Given the description of an element on the screen output the (x, y) to click on. 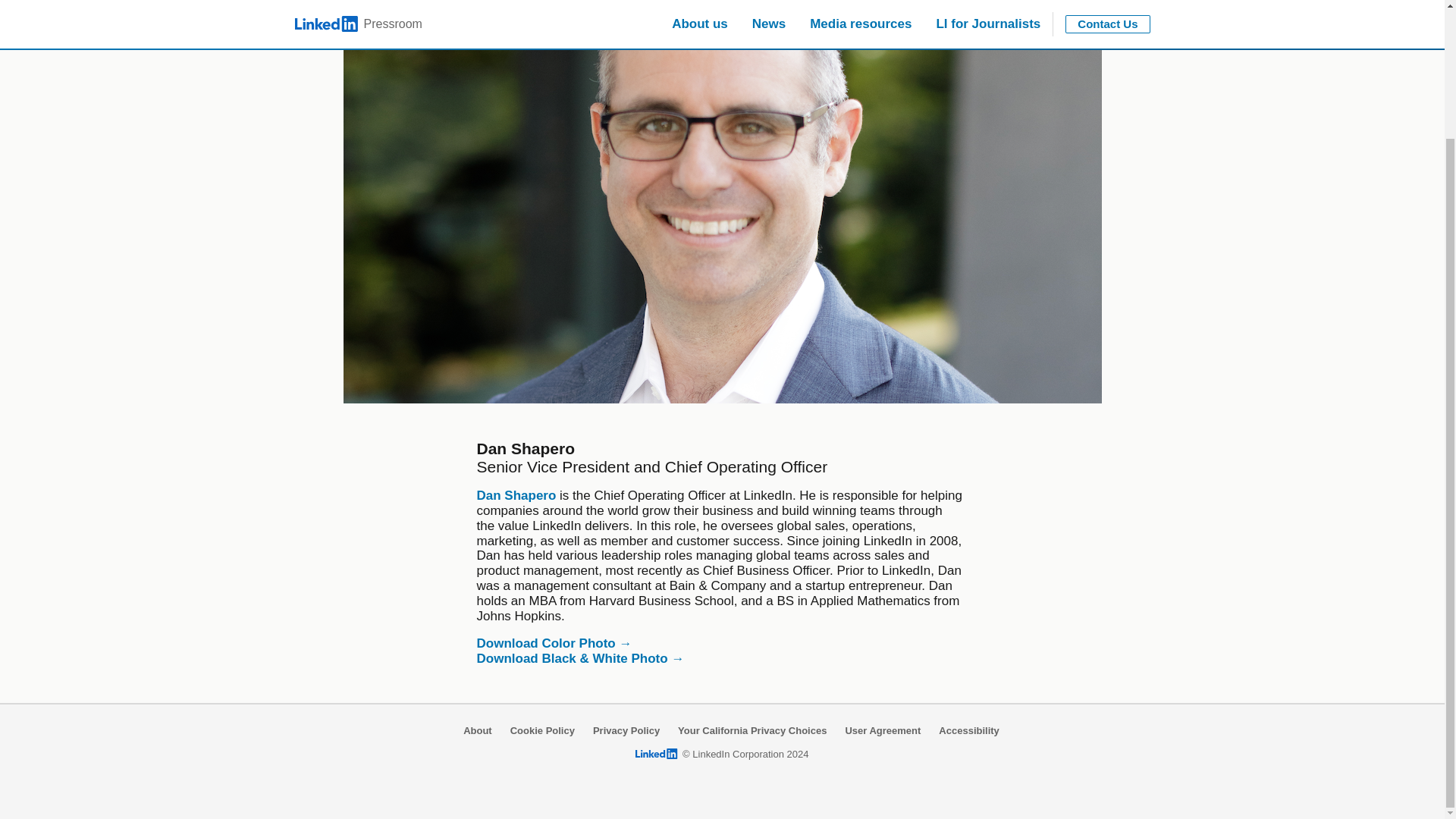
About (477, 730)
Privacy Policy (625, 730)
Cookie Policy (543, 730)
Dan Shapero (516, 495)
User Agreement (882, 730)
Accessibility (968, 730)
Your California Privacy Choices (752, 730)
